Given the description of an element on the screen output the (x, y) to click on. 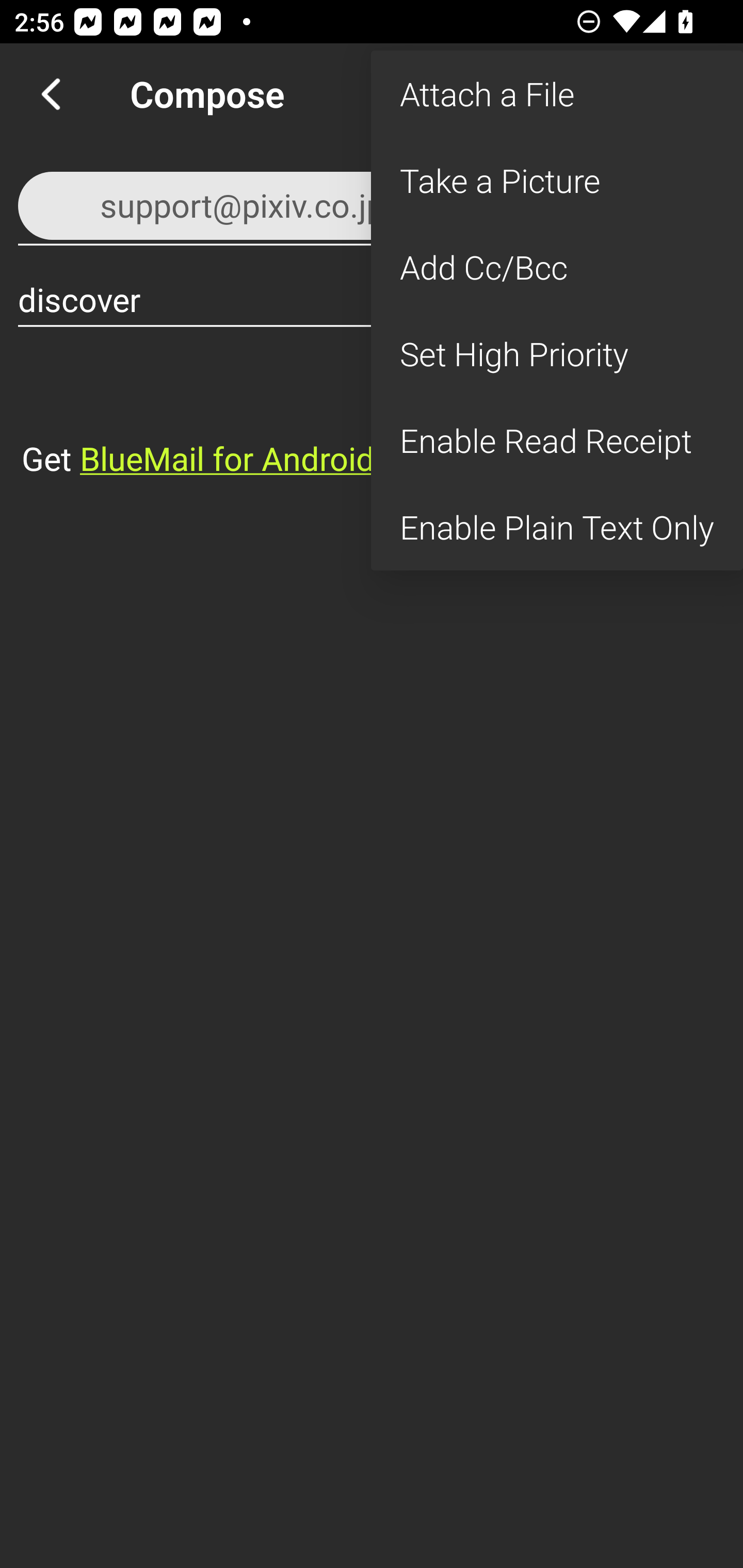
Attach a File (556, 93)
Take a Picture (556, 180)
Add Cc/Bcc (556, 267)
Set High Priority (556, 353)
Enable Read Receipt (556, 440)
Enable Plain Text Only (556, 527)
